Given the description of an element on the screen output the (x, y) to click on. 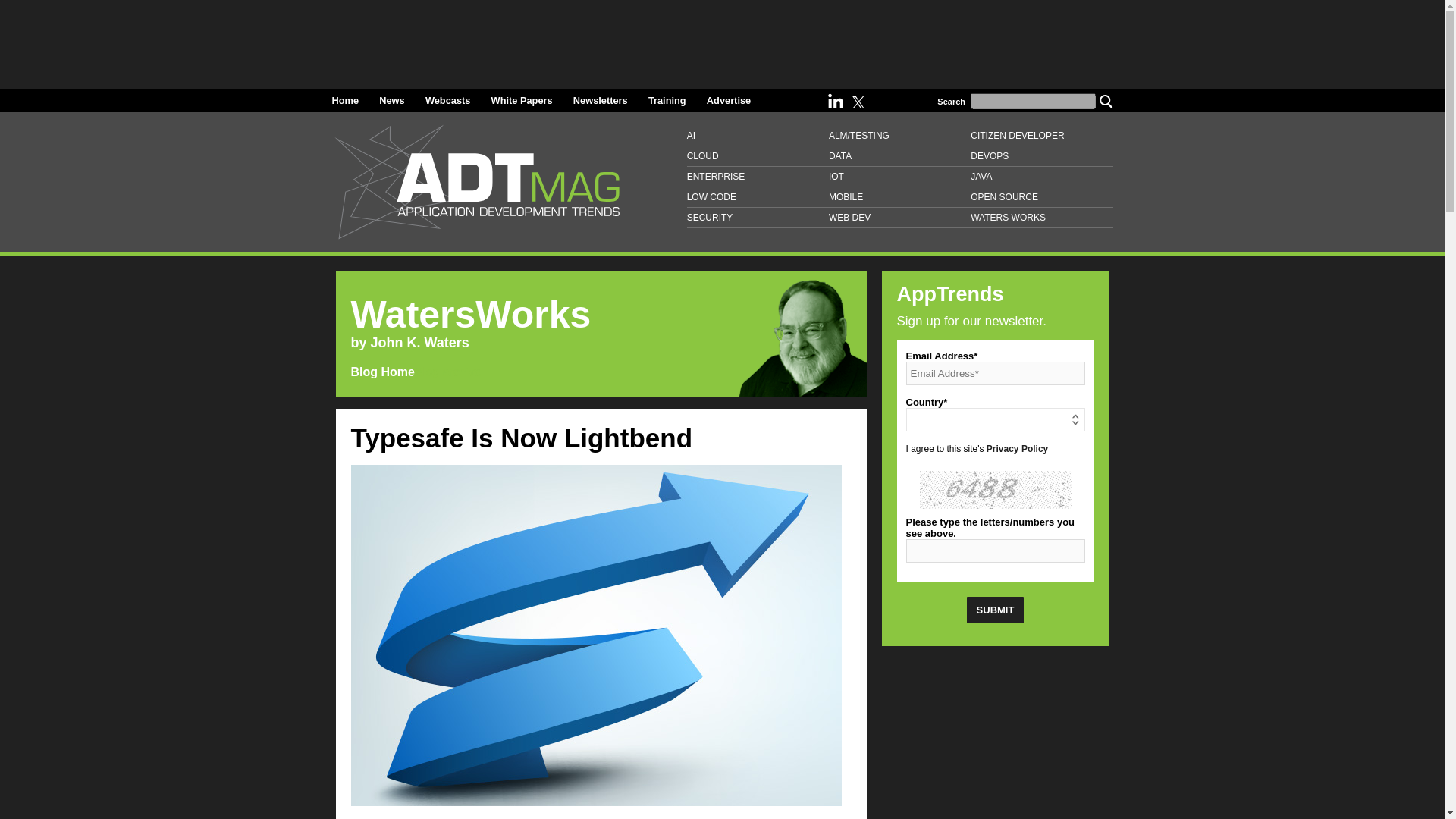
IOT (899, 177)
AI (757, 136)
3rd party ad content (994, 739)
Home (345, 100)
White Papers (522, 100)
Blog archive (415, 372)
Training (666, 100)
Search (1106, 100)
3rd party ad content (721, 39)
WEB DEV (899, 218)
MOBILE (899, 197)
DEVOPS (1041, 156)
LOW CODE (757, 197)
SECURITY (757, 218)
CLOUD (757, 156)
